Given the description of an element on the screen output the (x, y) to click on. 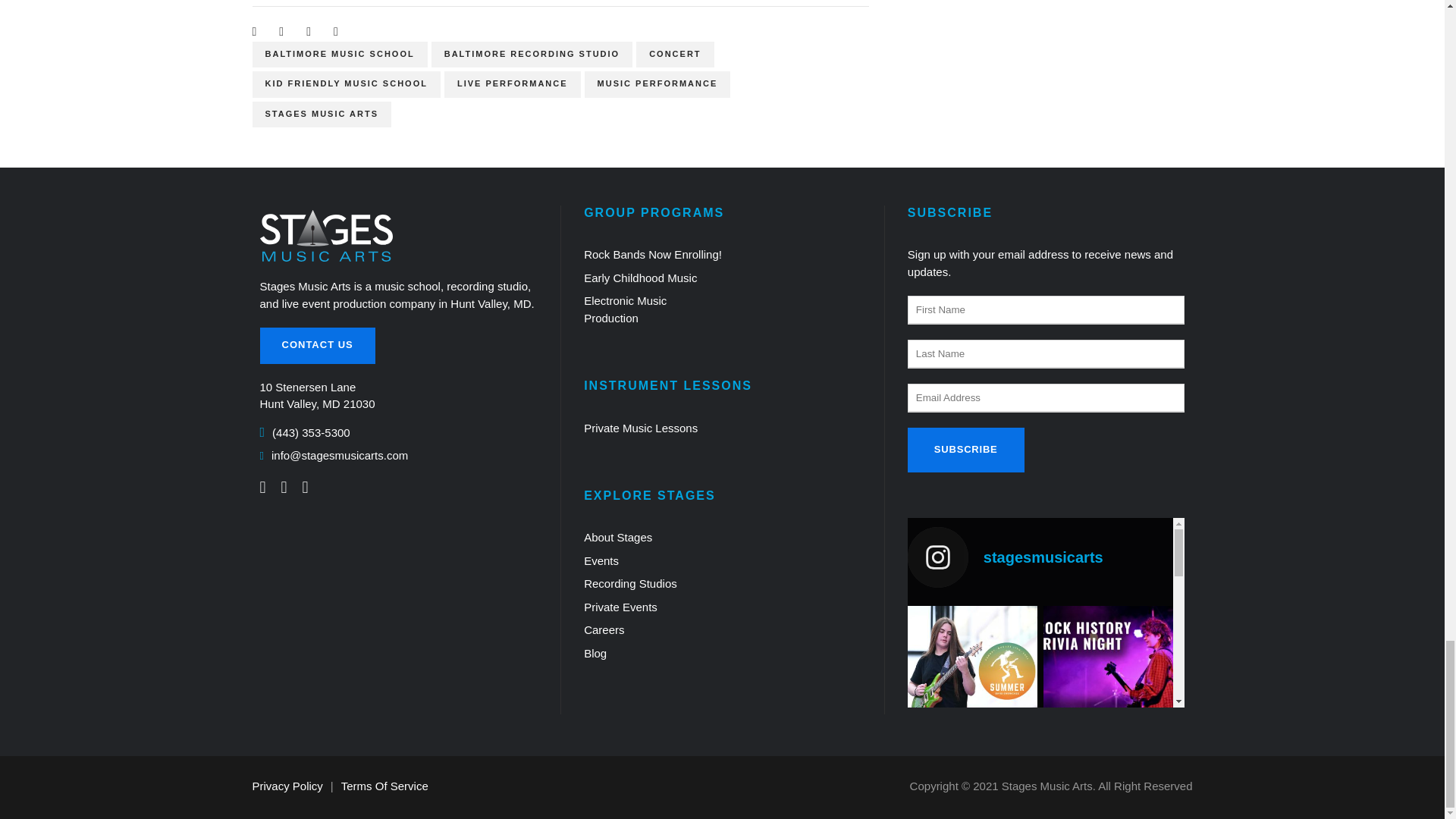
Subscribe (966, 449)
